Given the description of an element on the screen output the (x, y) to click on. 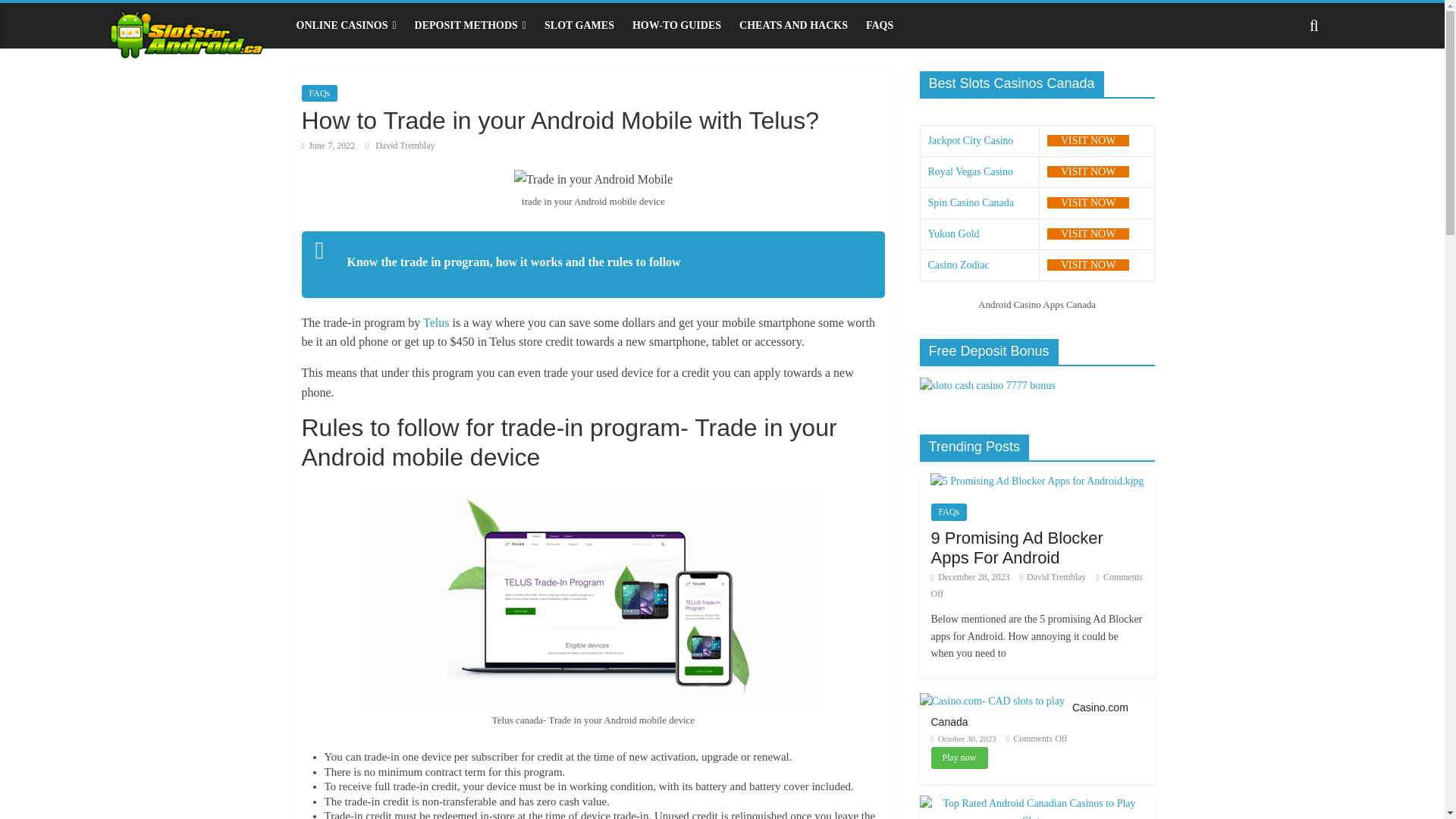
CHEATS AND HACKS (793, 25)
9 Promising Ad Blocker Apps For Android (1037, 481)
June 7, 2022 (328, 145)
VISIT NOW (1087, 140)
Casino Action Canada (1087, 265)
David Tremblay (404, 145)
9 Promising Ad Blocker Apps For Android (1037, 480)
1:00 pm (970, 576)
Casino.com Canada (991, 700)
ONLINE CASINOS (345, 25)
